Given the description of an element on the screen output the (x, y) to click on. 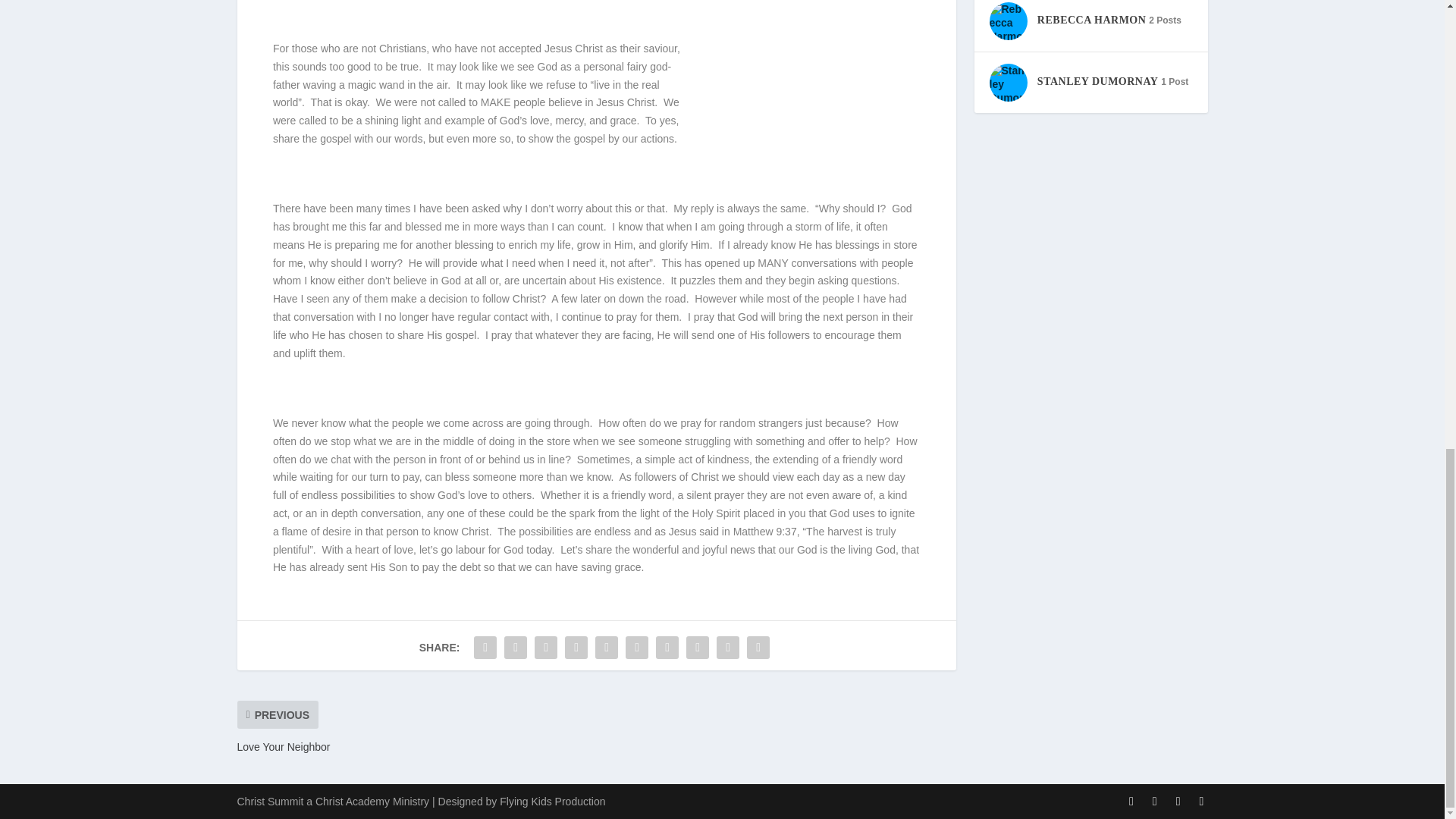
Share "Share The Light of Peace" via Buffer (667, 647)
Share "Share The Light of Peace" via Email (727, 647)
Share "Share The Light of Peace" via Tumblr (575, 647)
Share "Share The Light of Peace" via LinkedIn (636, 647)
Share "Share The Light of Peace" via Print (757, 647)
Share "Share The Light of Peace" via Stumbleupon (697, 647)
Share "Share The Light of Peace" via Facebook (485, 647)
Share "Share The Light of Peace" via Pinterest (606, 647)
Share "Share The Light of Peace" via Twitter (515, 647)
